Given the description of an element on the screen output the (x, y) to click on. 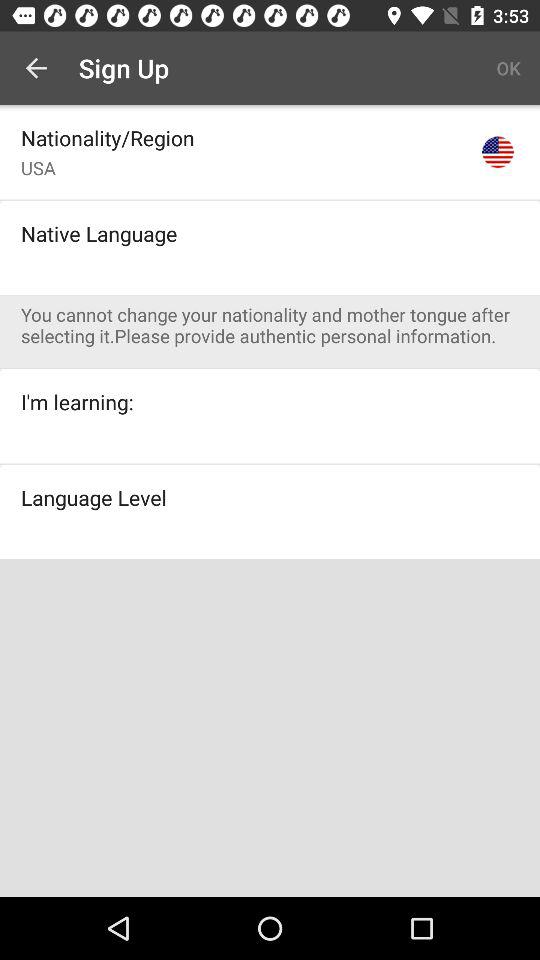
choose native language (99, 233)
